Given the description of an element on the screen output the (x, y) to click on. 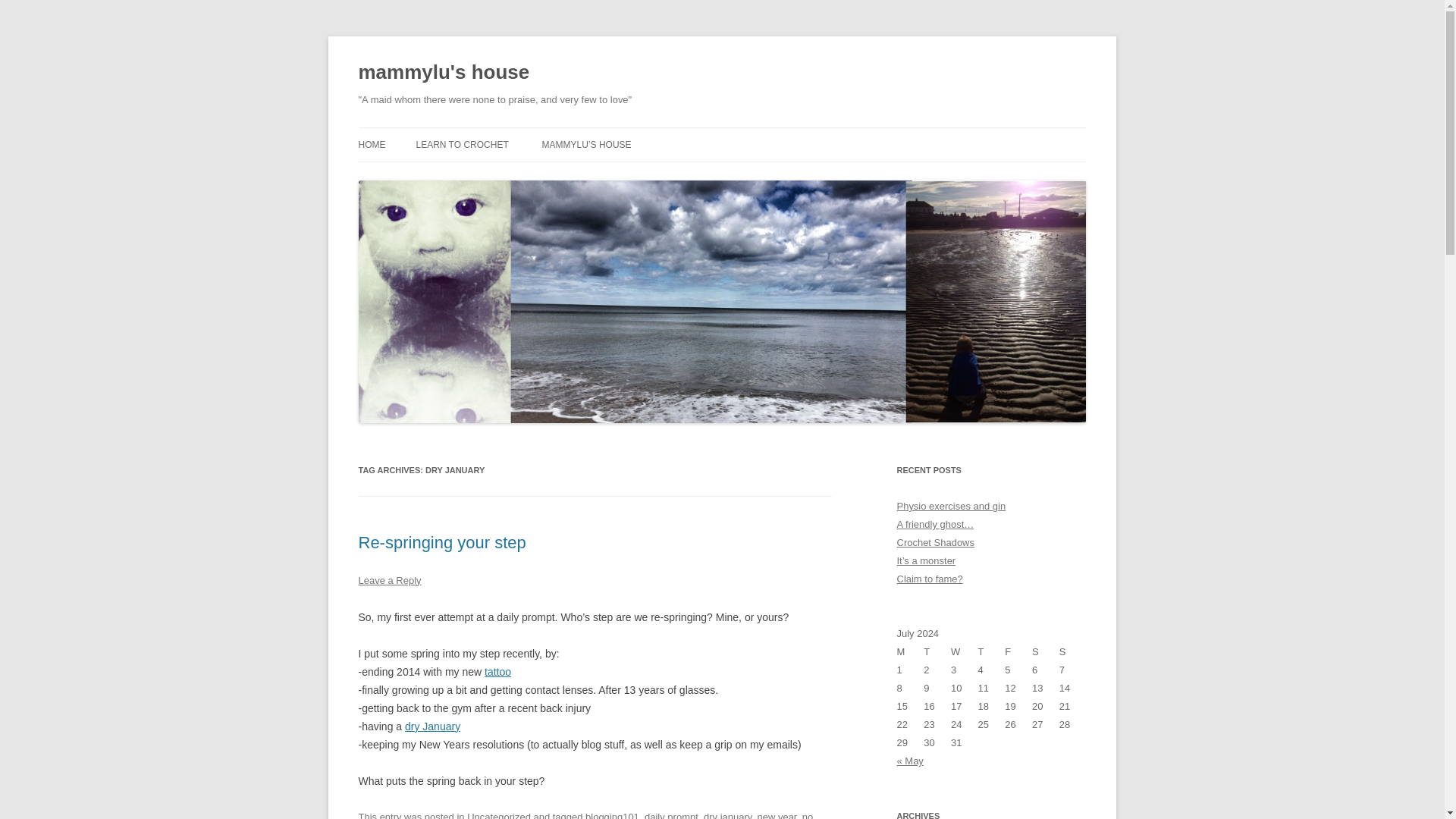
dry january (727, 815)
Re-springing your step (441, 542)
Wednesday (964, 651)
Monday (909, 651)
no more glasses (585, 815)
daily prompt (671, 815)
Leave a Reply (389, 580)
dry January (432, 726)
LEARN TO CROCHET (461, 144)
mammylu's house (443, 72)
Uncategorized (499, 815)
Crochet Shadows (935, 542)
Sunday (1072, 651)
